Given the description of an element on the screen output the (x, y) to click on. 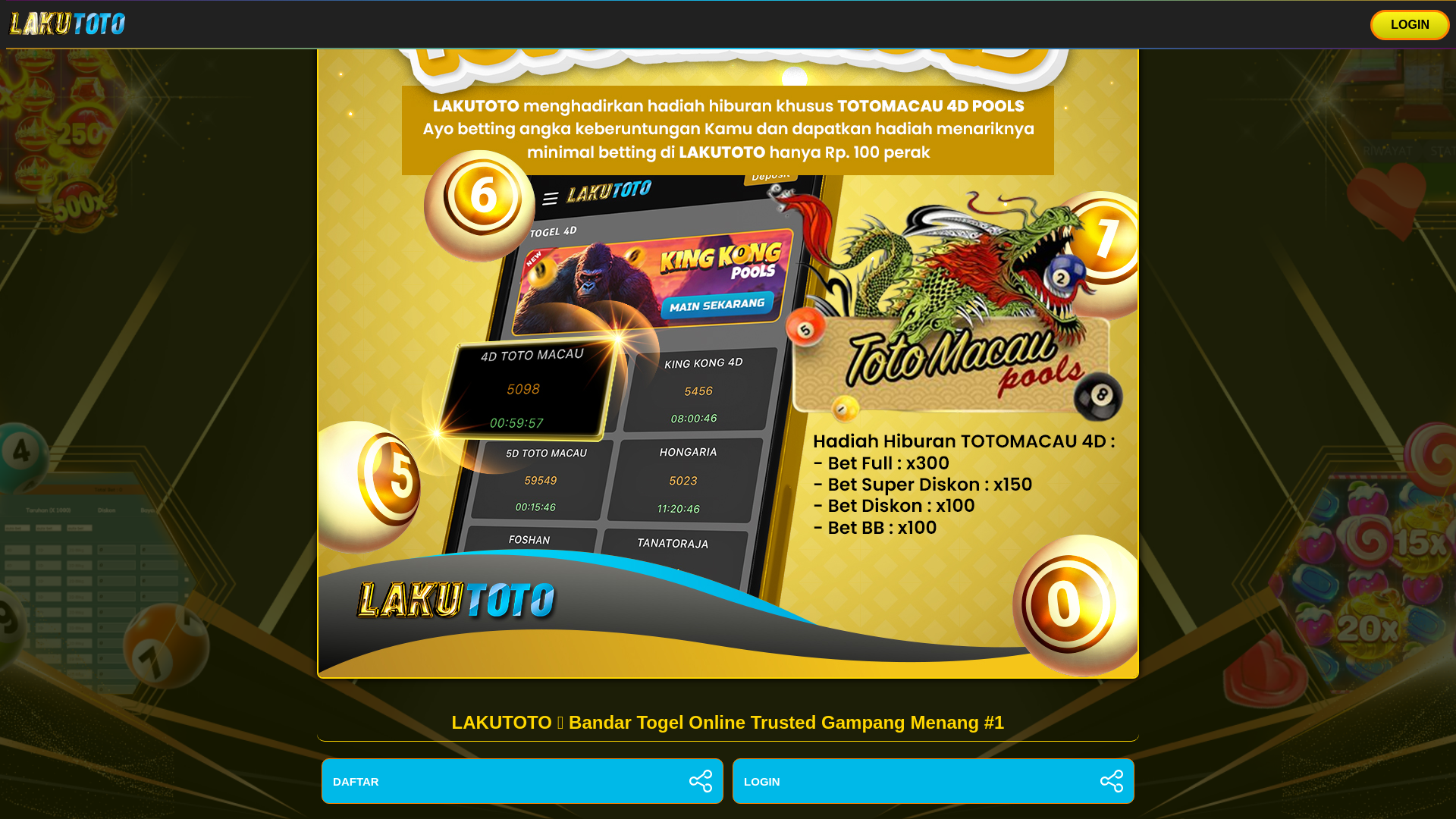
LOGIN (933, 780)
DAFTAR (522, 780)
